Given the description of an element on the screen output the (x, y) to click on. 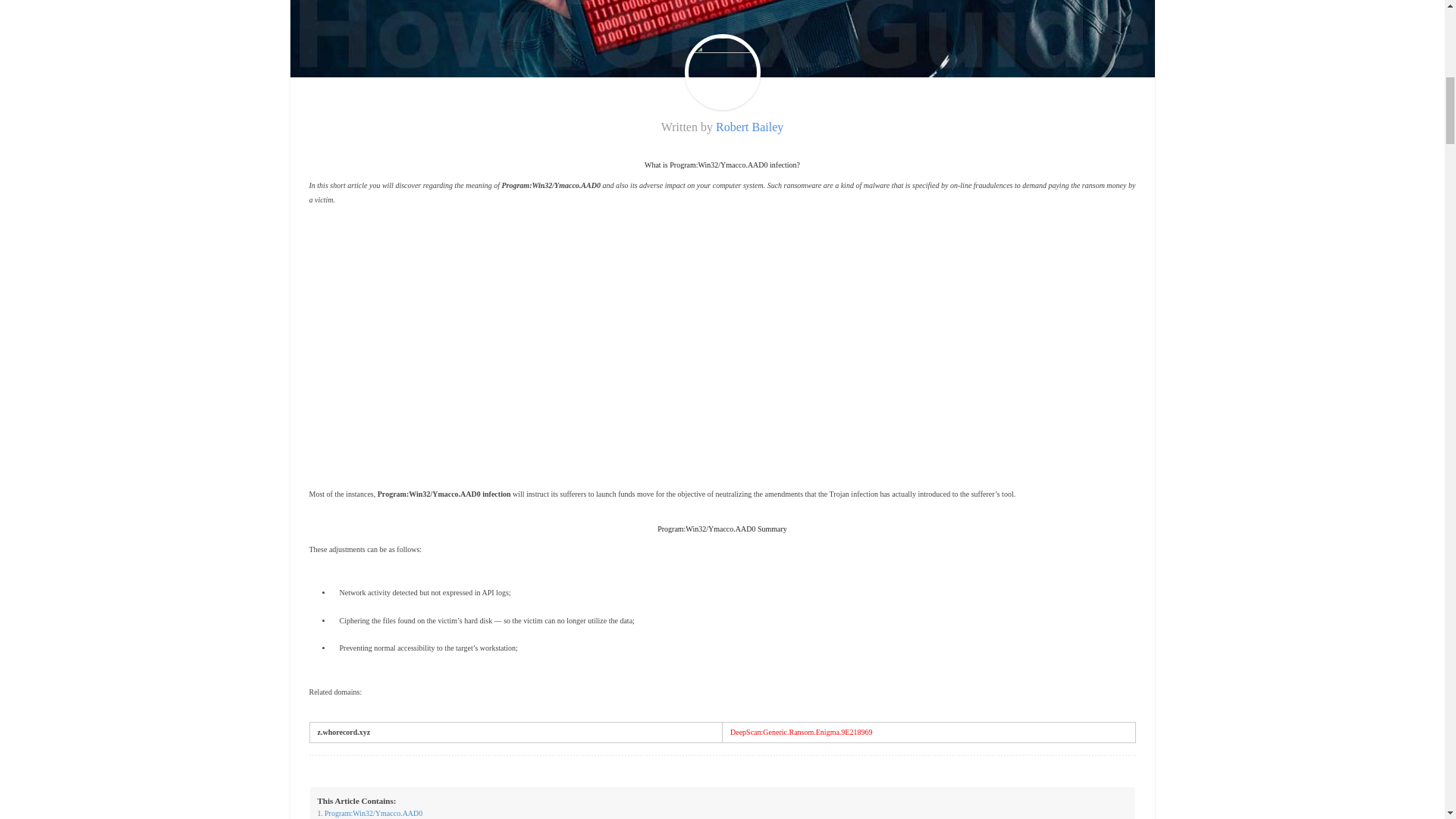
Robert Bailey (749, 126)
